Given the description of an element on the screen output the (x, y) to click on. 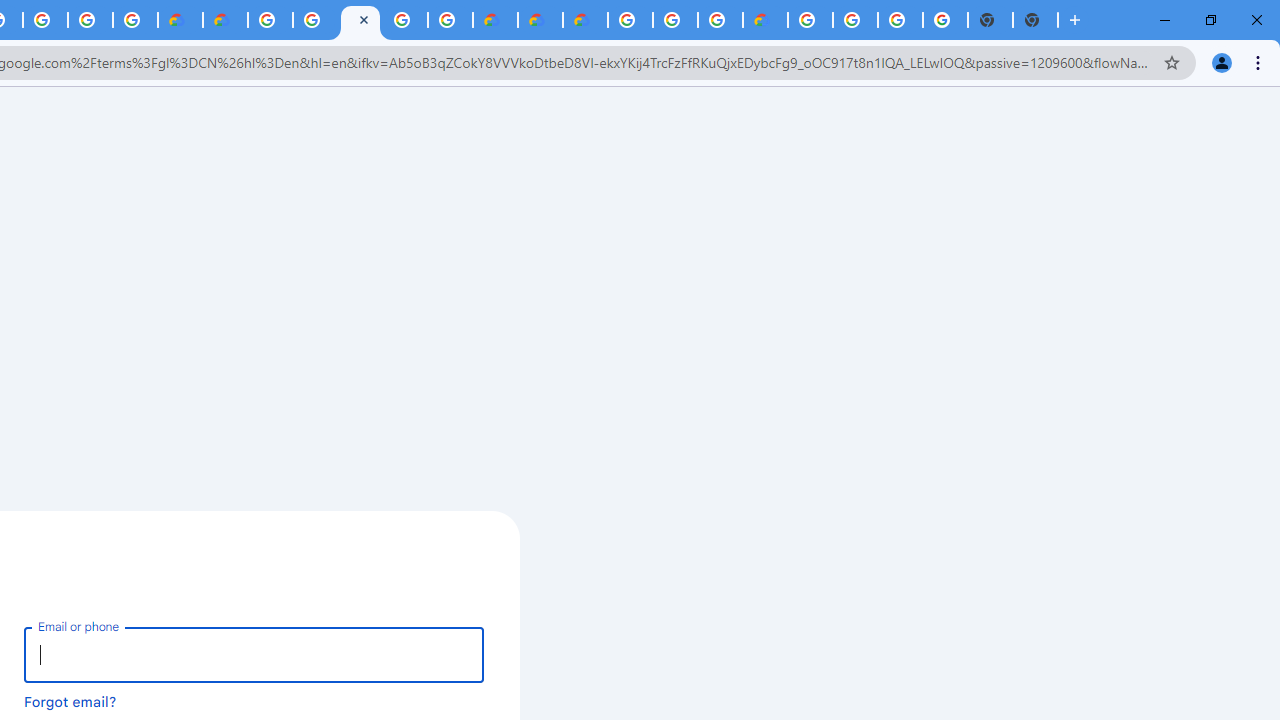
Google Cloud Platform (630, 20)
Google Cloud Pricing Calculator (540, 20)
Google Cloud Platform (855, 20)
New Tab (1035, 20)
Google Cloud Estimate Summary (585, 20)
Google Workspace - Specific Terms (134, 20)
Google Cloud Platform (810, 20)
Customer Care | Google Cloud (495, 20)
Google Workspace - Specific Terms (89, 20)
